Given the description of an element on the screen output the (x, y) to click on. 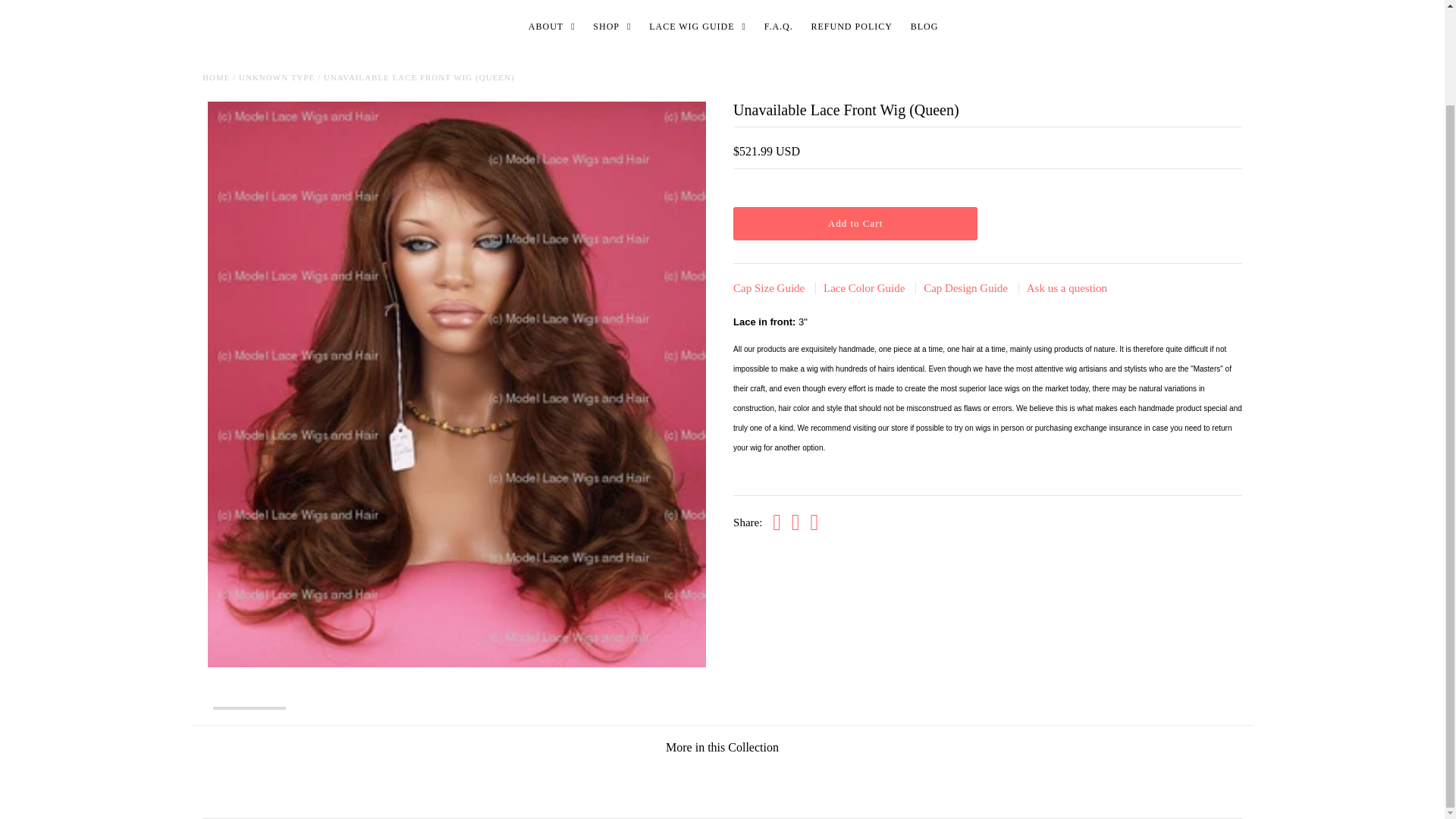
REFUND POLICY (851, 26)
Pin This Product (814, 523)
ABOUT (552, 26)
HOME (216, 76)
Share on Twitter (795, 523)
LACE WIG GUIDE (698, 26)
SHOP (612, 26)
Home (216, 76)
BLOG (924, 26)
Add to Cart (854, 223)
F.A.Q. (778, 26)
